Given the description of an element on the screen output the (x, y) to click on. 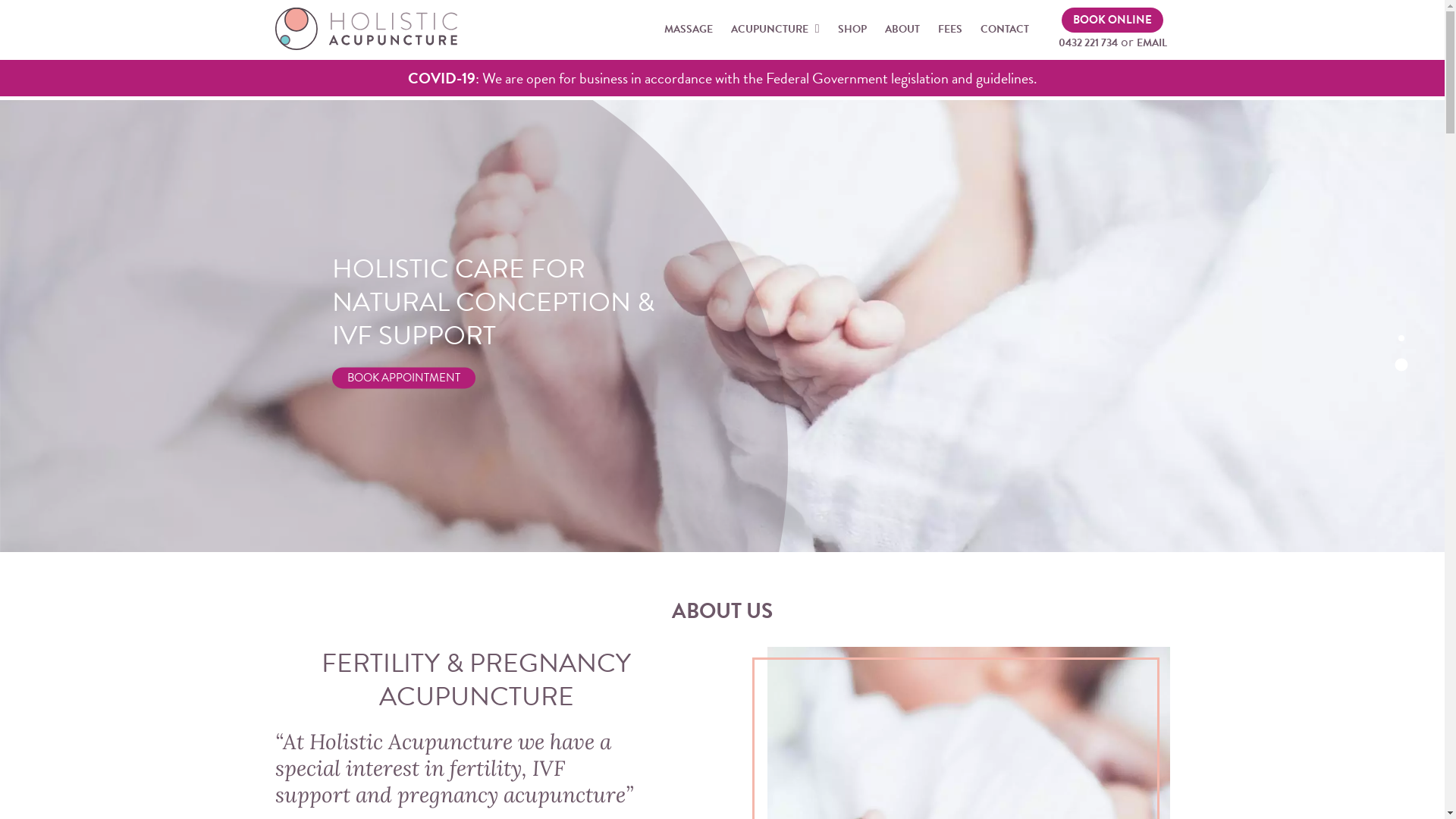
SHOP Element type: text (851, 29)
ABOUT Element type: text (901, 29)
ACUPUNCTURE Element type: text (775, 29)
EMAIL Element type: text (1150, 42)
1 Element type: text (1401, 338)
BOOK ONLINE Element type: text (1112, 19)
FEES Element type: text (949, 29)
2 Element type: text (1400, 363)
MASSAGE Element type: text (688, 29)
0432 221 734 Element type: text (1087, 42)
CONTACT Element type: text (1003, 29)
BOOK APPOINTMENT Element type: text (403, 378)
PREGNANCY ACUPUNCTURE Element type: text (505, 679)
